Given the description of an element on the screen output the (x, y) to click on. 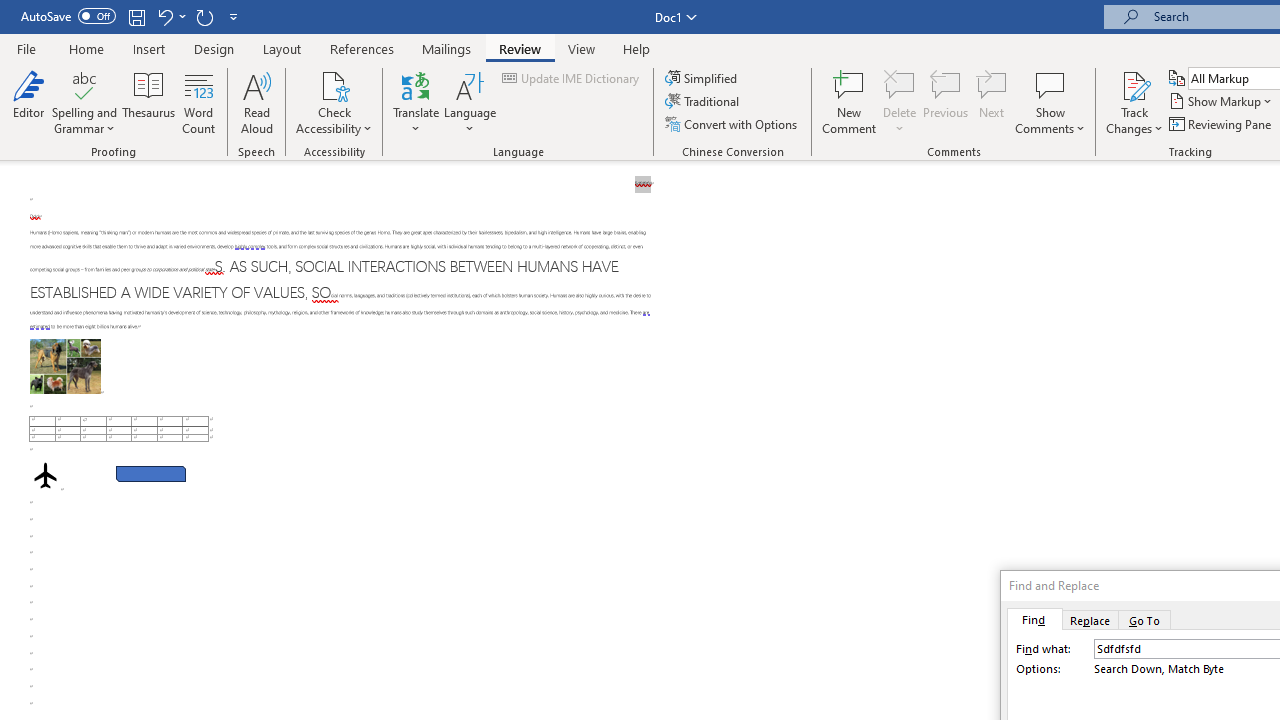
Rectangle: Diagonal Corners Snipped 2 (150, 473)
Repeat Paragraph Alignment (204, 15)
Check Accessibility (334, 84)
Thesaurus... (148, 102)
Read Aloud (256, 102)
Show Comments (1050, 102)
New Comment (849, 102)
